Given the description of an element on the screen output the (x, y) to click on. 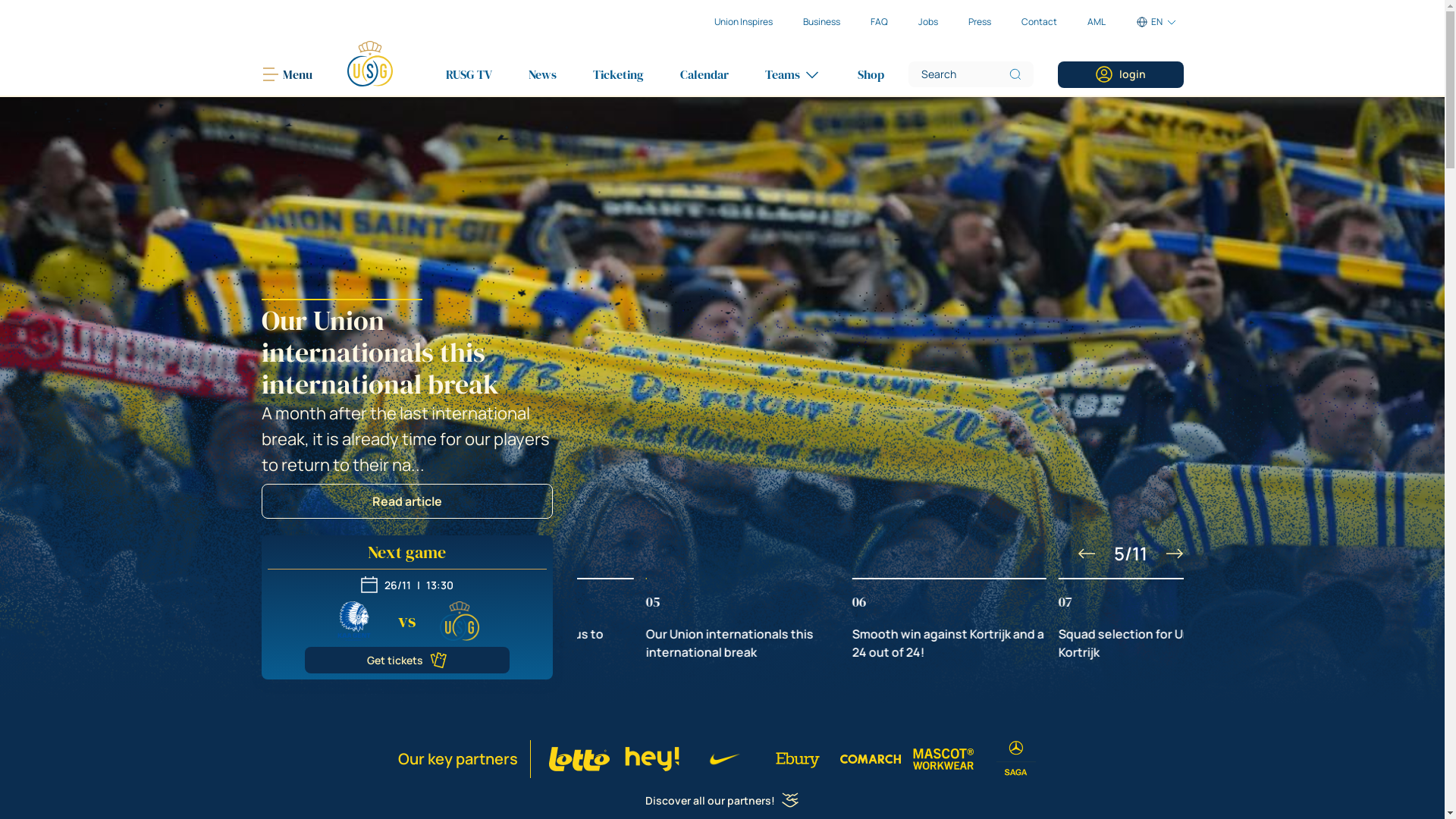
Union Inspires Element type: text (743, 21)
Results for the Union internationals for November 2023 Element type: hover (722, 400)
FAQ Element type: text (879, 21)
Read article Element type: text (406, 500)
Get tickets Element type: text (406, 659)
News Element type: text (541, 74)
RUSG TV Element type: text (468, 74)
Discover all our partners! Element type: text (722, 800)
04
Ticketing: supportersbus to Toulouse Element type: text (673, 619)
Contact Element type: text (1038, 21)
Calendar Element type: text (703, 74)
AML Element type: text (1096, 21)
Ticketing Element type: text (618, 74)
login Element type: text (1120, 73)
Teams Element type: text (792, 74)
Jobs Element type: text (927, 21)
Shop Element type: text (869, 74)
Skip to main content Element type: text (0, 0)
05
Our Union internationals this international break Element type: text (879, 619)
button icon Element type: hover (1173, 553)
button icon Element type: hover (1085, 553)
06
Smooth win against Kortrijk and a 24 out of 24! Element type: text (1085, 619)
Business Element type: text (820, 21)
Press Element type: text (978, 21)
